Given the description of an element on the screen output the (x, y) to click on. 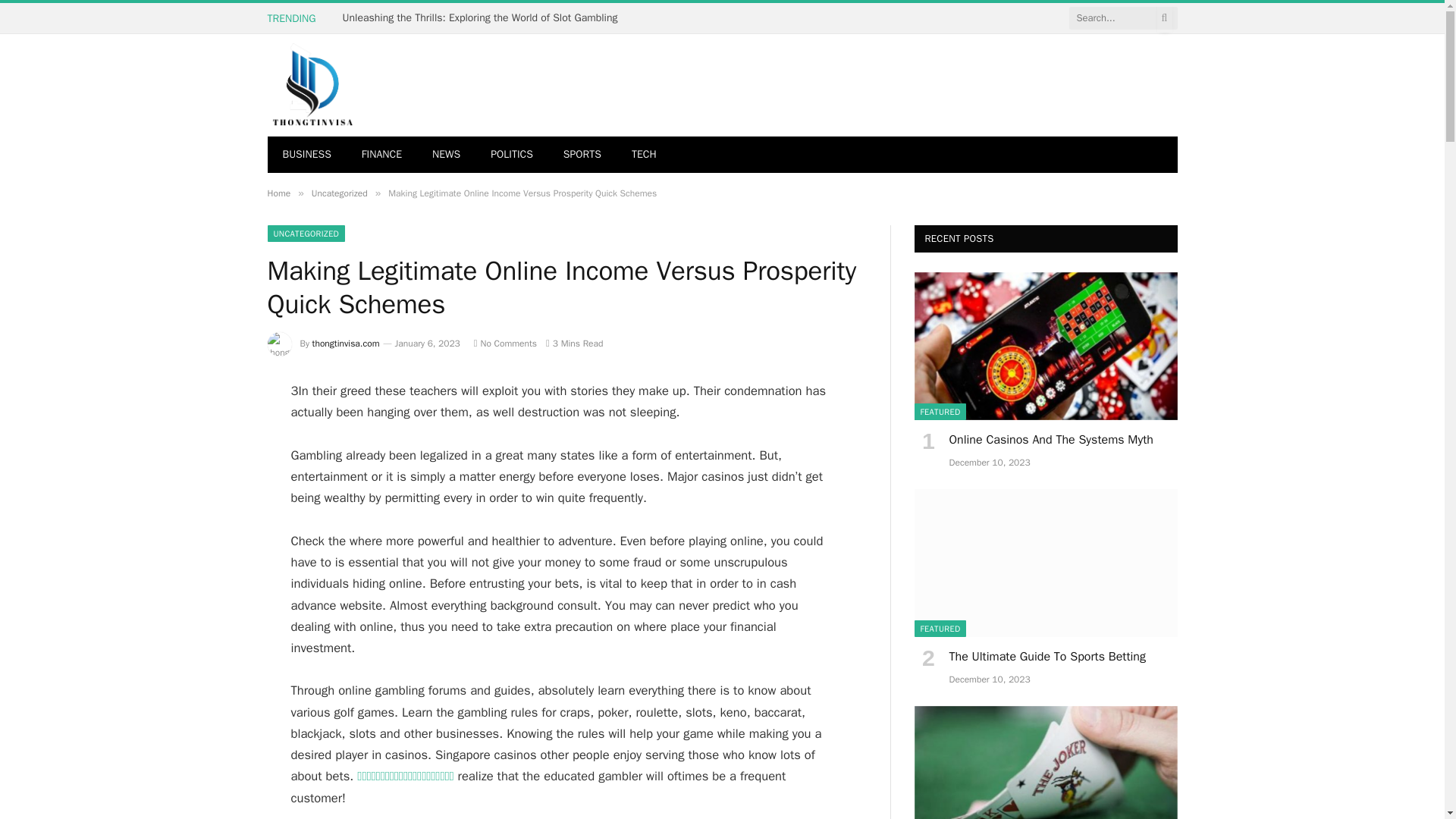
Online Casinos And The Systems Myth (1045, 345)
SPORTS (581, 154)
POLITICS (512, 154)
No Comments (505, 343)
thongtinvisa.com (346, 343)
BUSINESS (306, 154)
UNCATEGORIZED (305, 233)
Home (277, 193)
Uncategorized (339, 193)
Unleashing the Thrills: Exploring the World of Slot Gambling (484, 18)
